Given the description of an element on the screen output the (x, y) to click on. 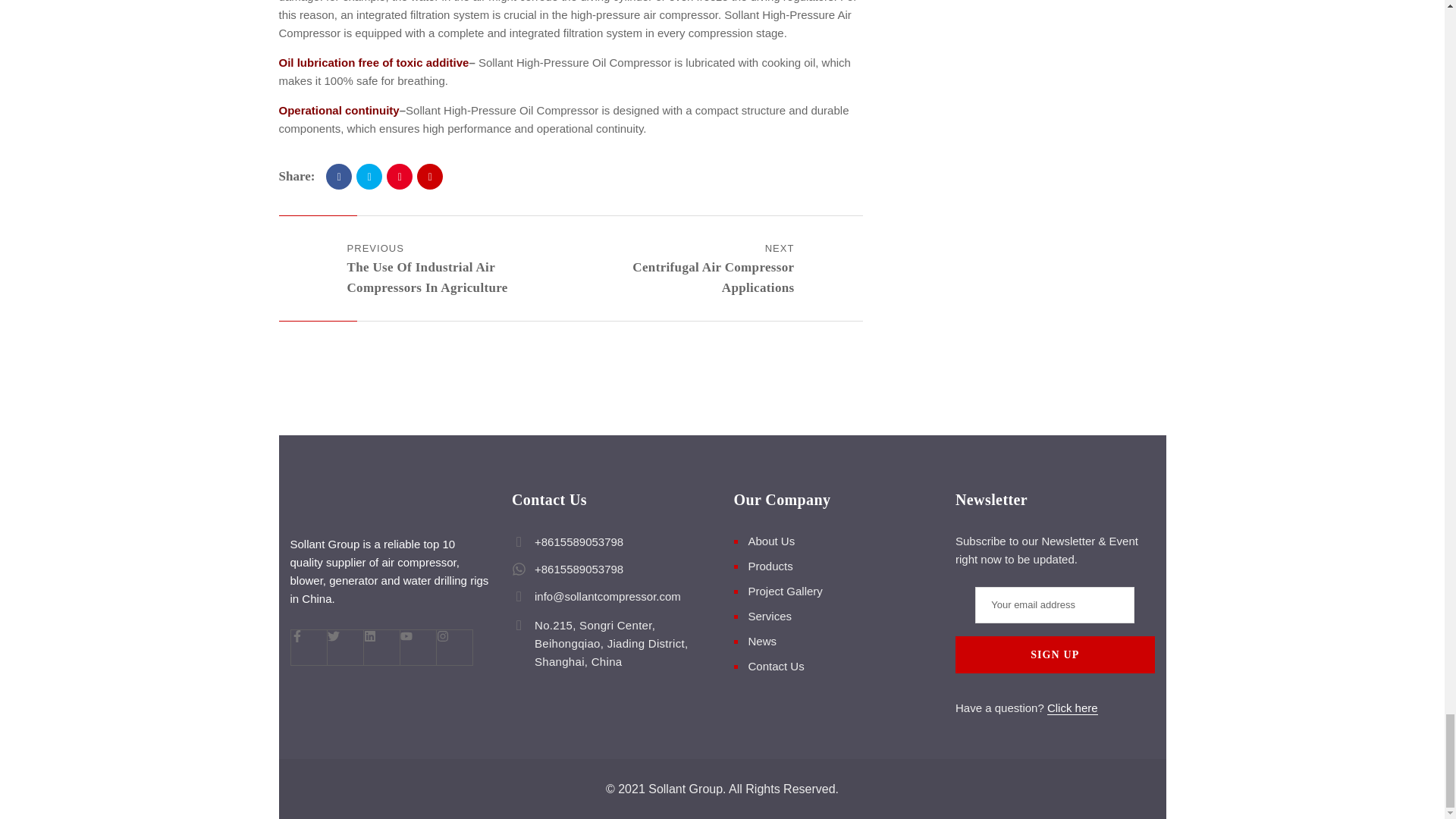
Sign up (1054, 654)
LinkedIn (429, 176)
Twitter (368, 176)
Pinterest (399, 176)
Facebook (339, 176)
